Given the description of an element on the screen output the (x, y) to click on. 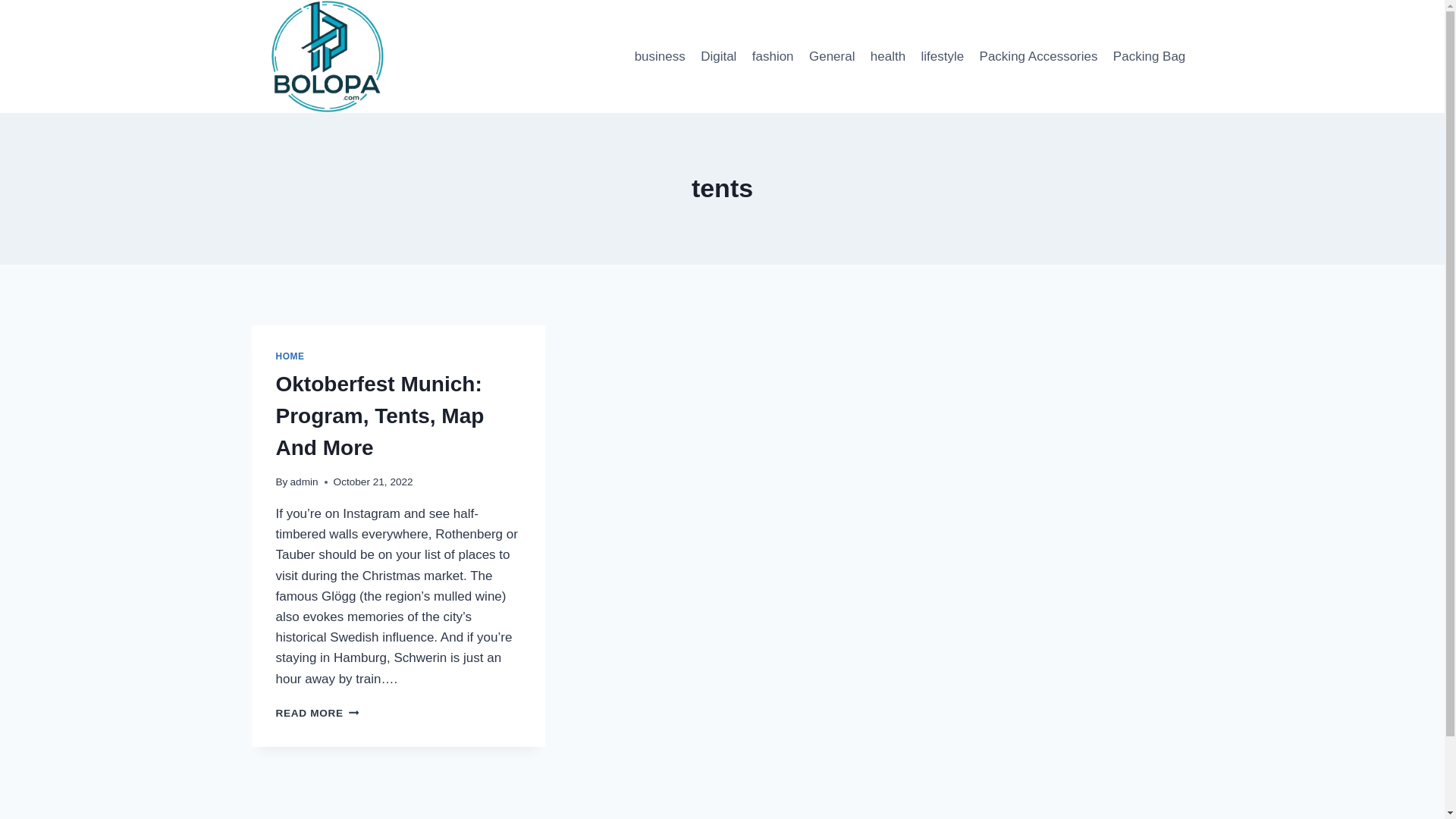
HOME (290, 356)
Digital (718, 56)
fashion (773, 56)
health (888, 56)
lifestyle (941, 56)
Packing Accessories (1038, 56)
Packing Bag (1149, 56)
Oktoberfest Munich: Program, Tents, Map And More (317, 713)
business (380, 415)
General (659, 56)
admin (832, 56)
